Given the description of an element on the screen output the (x, y) to click on. 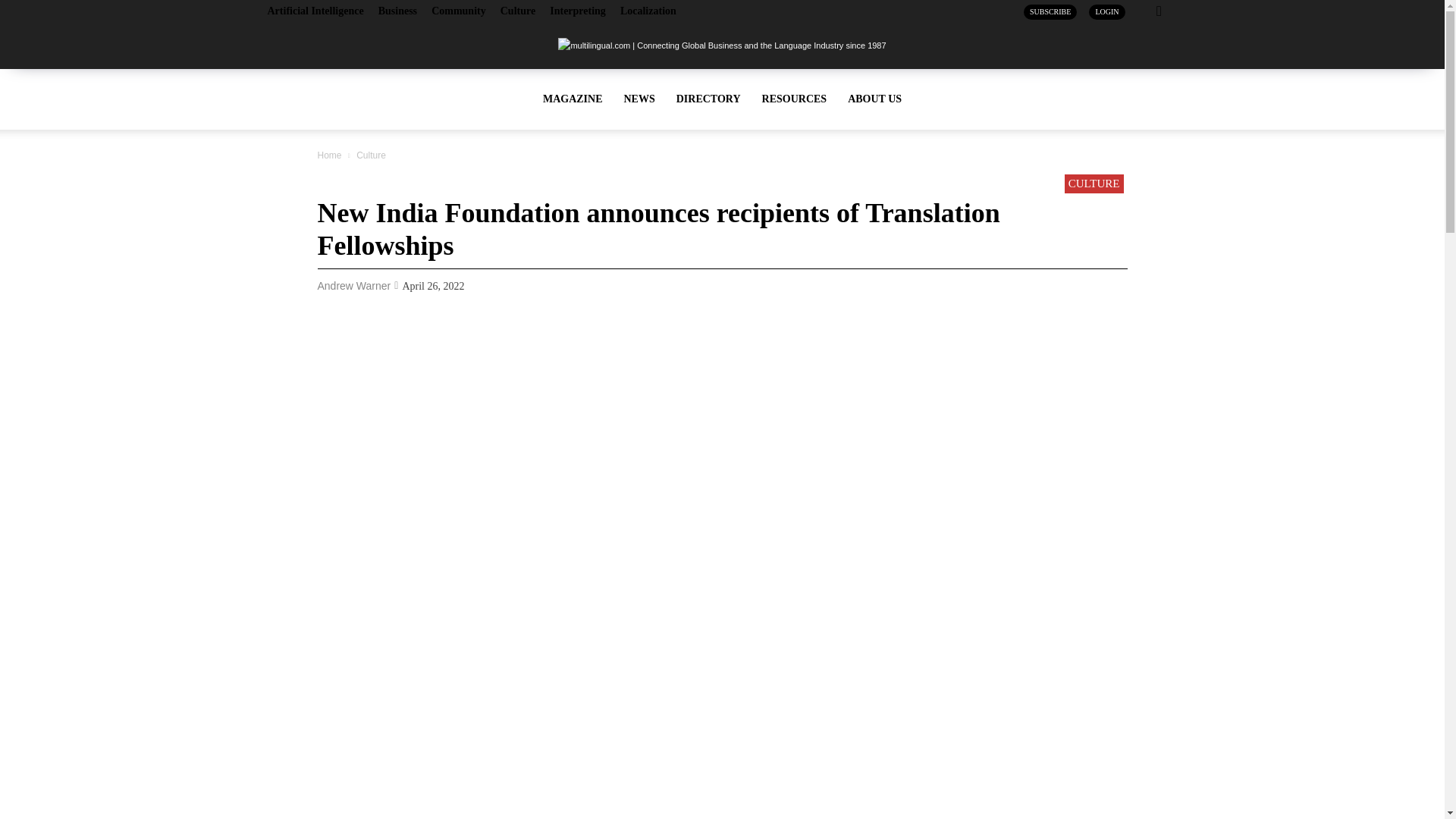
View all posts in Culture (370, 154)
Business (397, 10)
Artificial Intelligence (314, 10)
Community (458, 10)
